Given the description of an element on the screen output the (x, y) to click on. 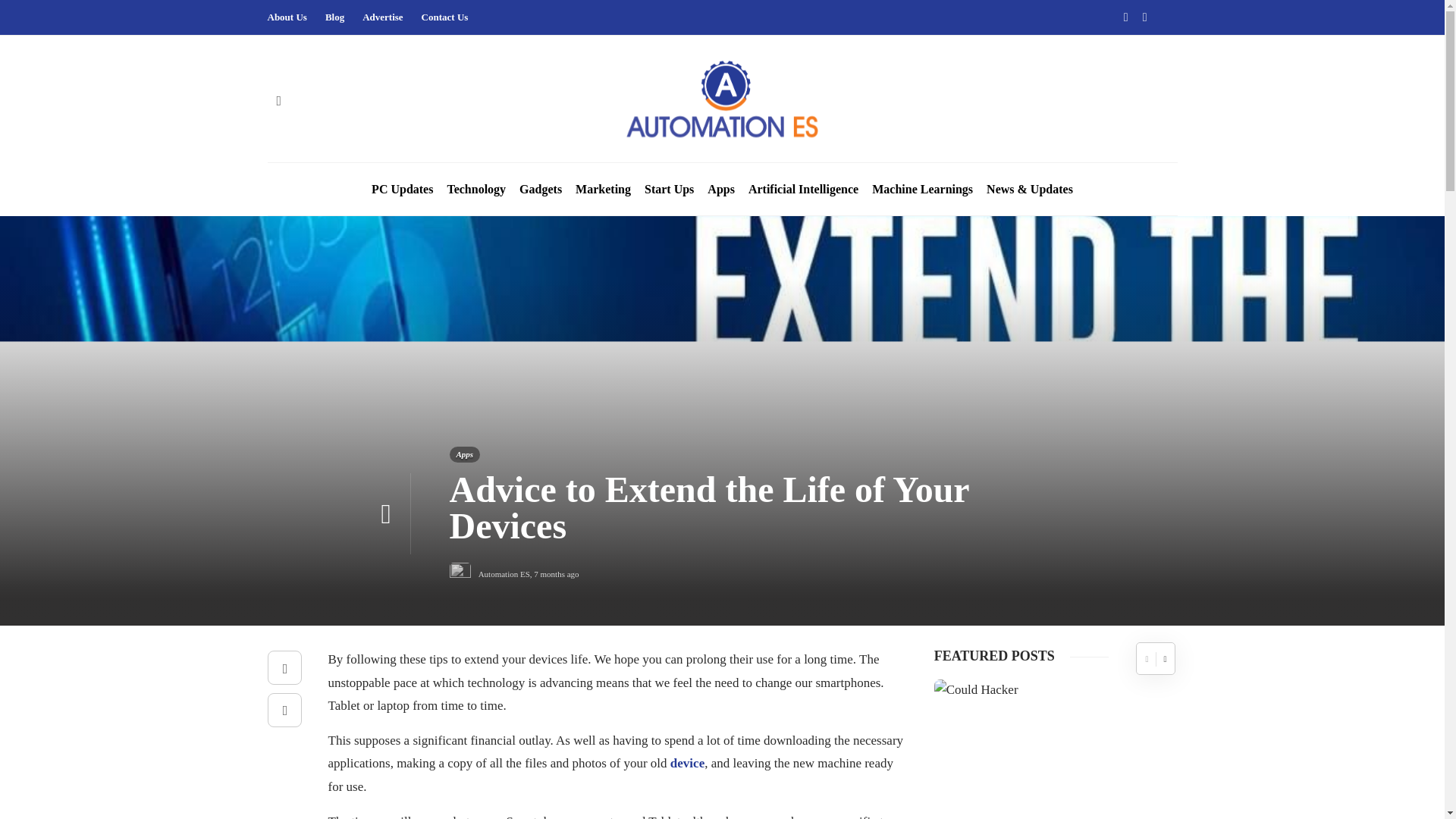
Contact Us (445, 17)
About Us (285, 17)
Advertise (382, 17)
